Given the description of an element on the screen output the (x, y) to click on. 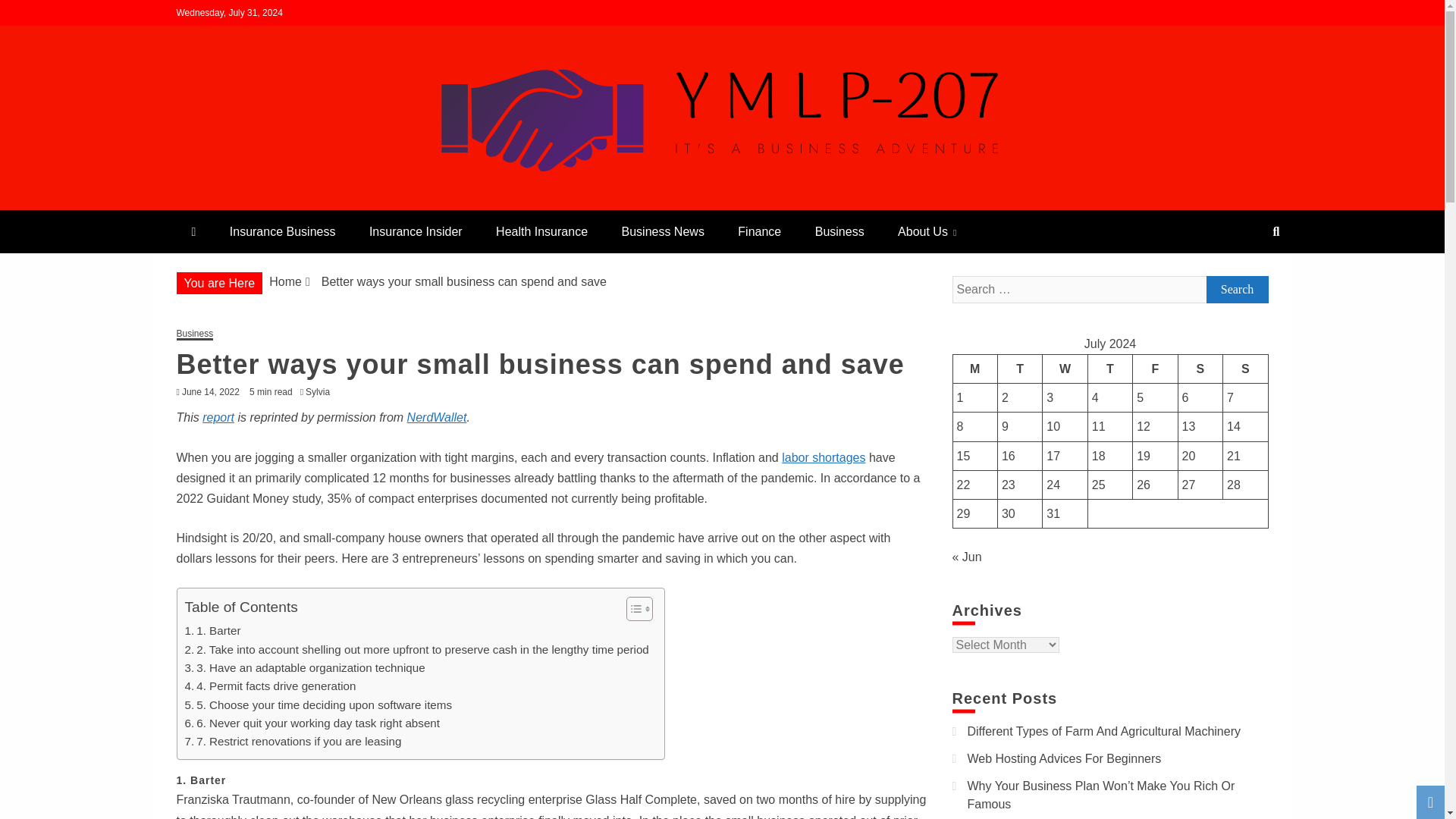
report (218, 417)
Friday (1154, 368)
5. Choose your time deciding upon software items (318, 705)
4. Permit facts drive generation (270, 686)
5. Choose your time deciding upon software items (318, 705)
Search (31, 13)
4. Permit facts drive generation (270, 686)
Business News (663, 231)
Y M L P-207 (256, 203)
1. Barter (212, 630)
Finance (759, 231)
Tuesday (1019, 368)
3. Have an adaptable organization technique (304, 668)
Insurance Insider (415, 231)
Business (194, 334)
